Given the description of an element on the screen output the (x, y) to click on. 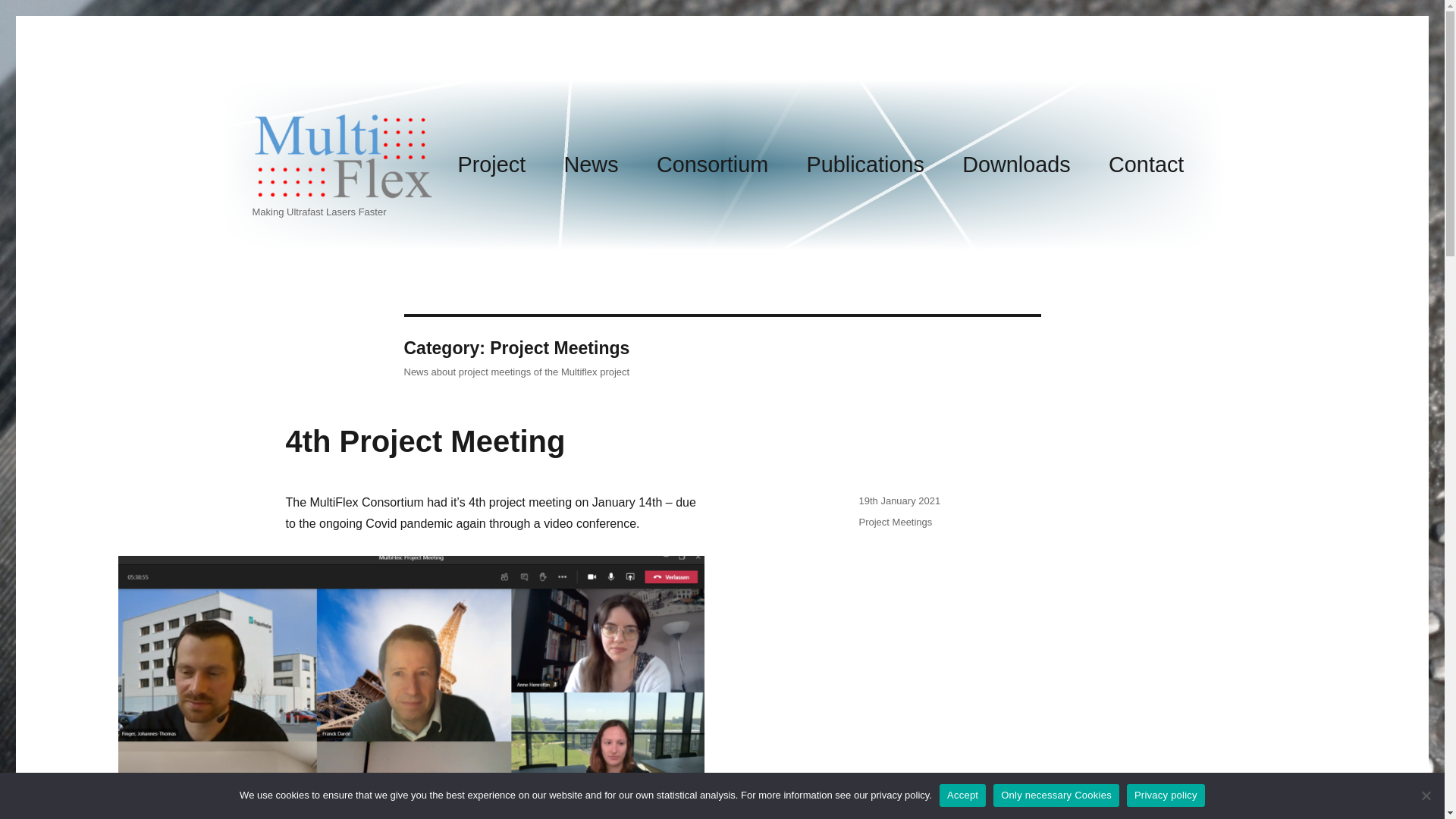
Downloads (1016, 165)
19th January 2021 (899, 500)
Contact (1146, 165)
4th Project Meeting (424, 441)
Project (491, 165)
Project Meetings (895, 521)
Consortium (712, 165)
News (590, 165)
Publications (865, 165)
